Given the description of an element on the screen output the (x, y) to click on. 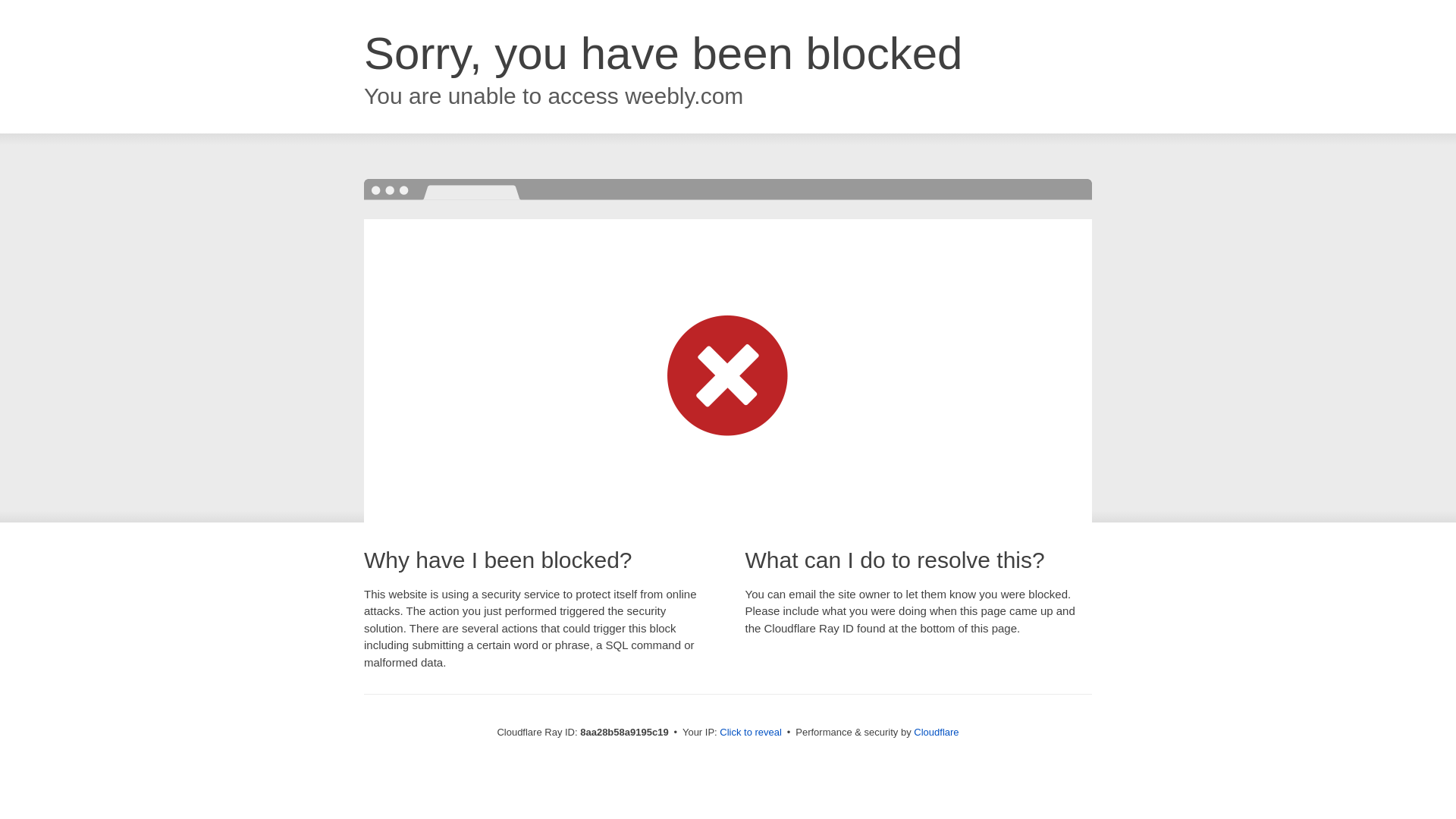
Click to reveal (750, 732)
Cloudflare (936, 731)
